Given the description of an element on the screen output the (x, y) to click on. 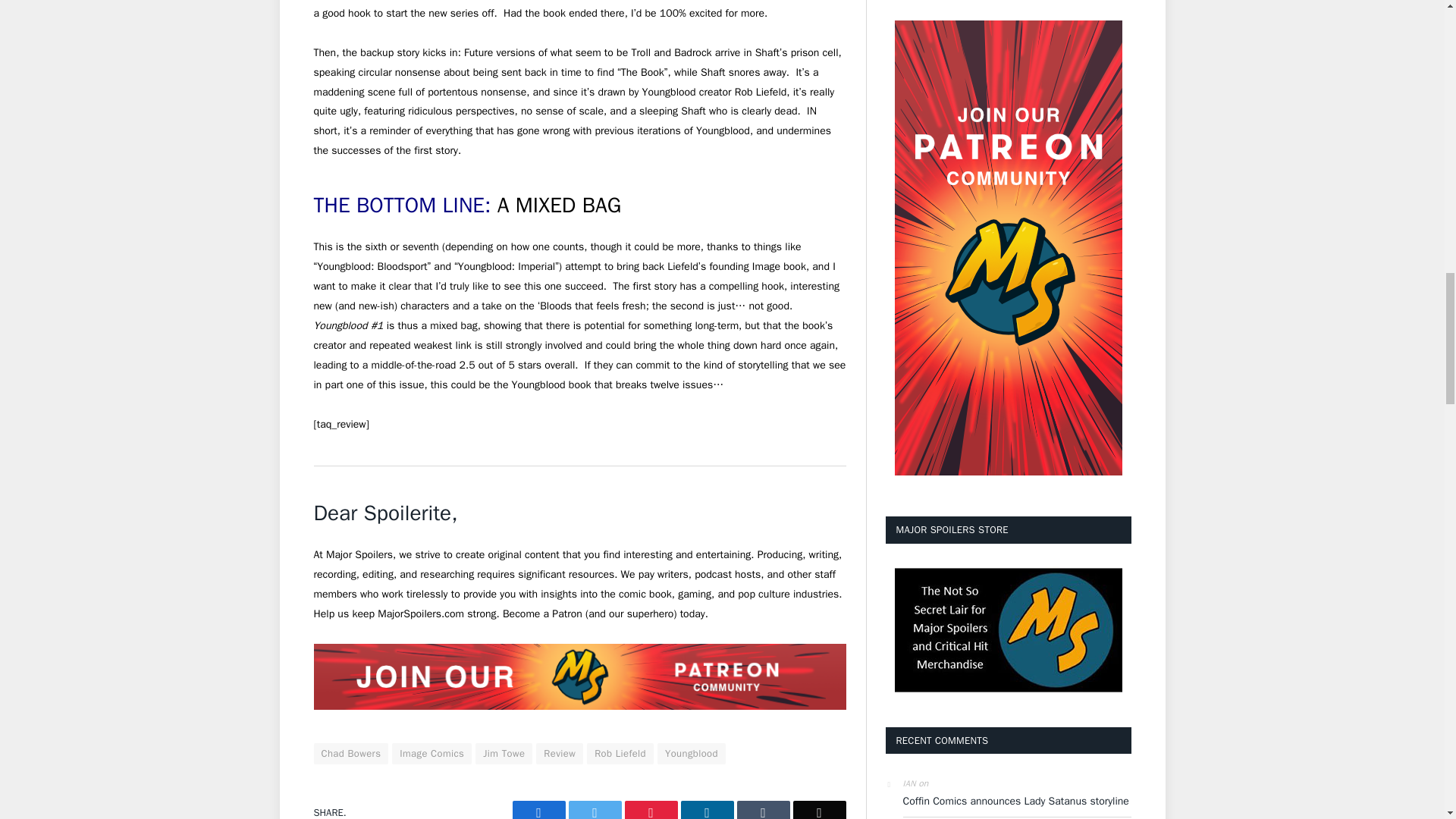
Share on Facebook (539, 809)
Share on Twitter (595, 809)
Share on LinkedIn (707, 809)
Share on Pinterest (651, 809)
